Given the description of an element on the screen output the (x, y) to click on. 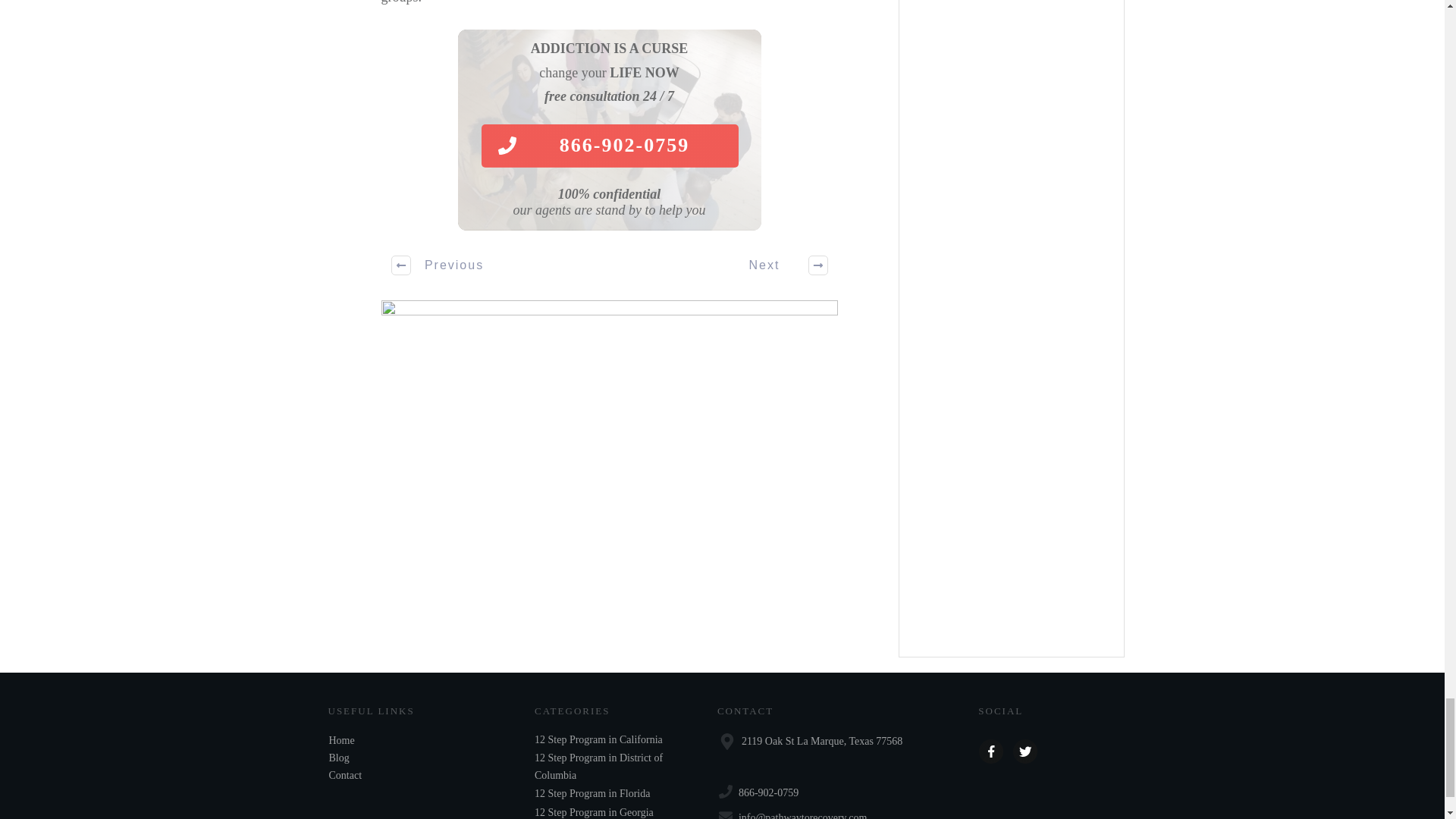
866-902-0759 (609, 145)
Previous (438, 265)
Next (780, 265)
